Given the description of an element on the screen output the (x, y) to click on. 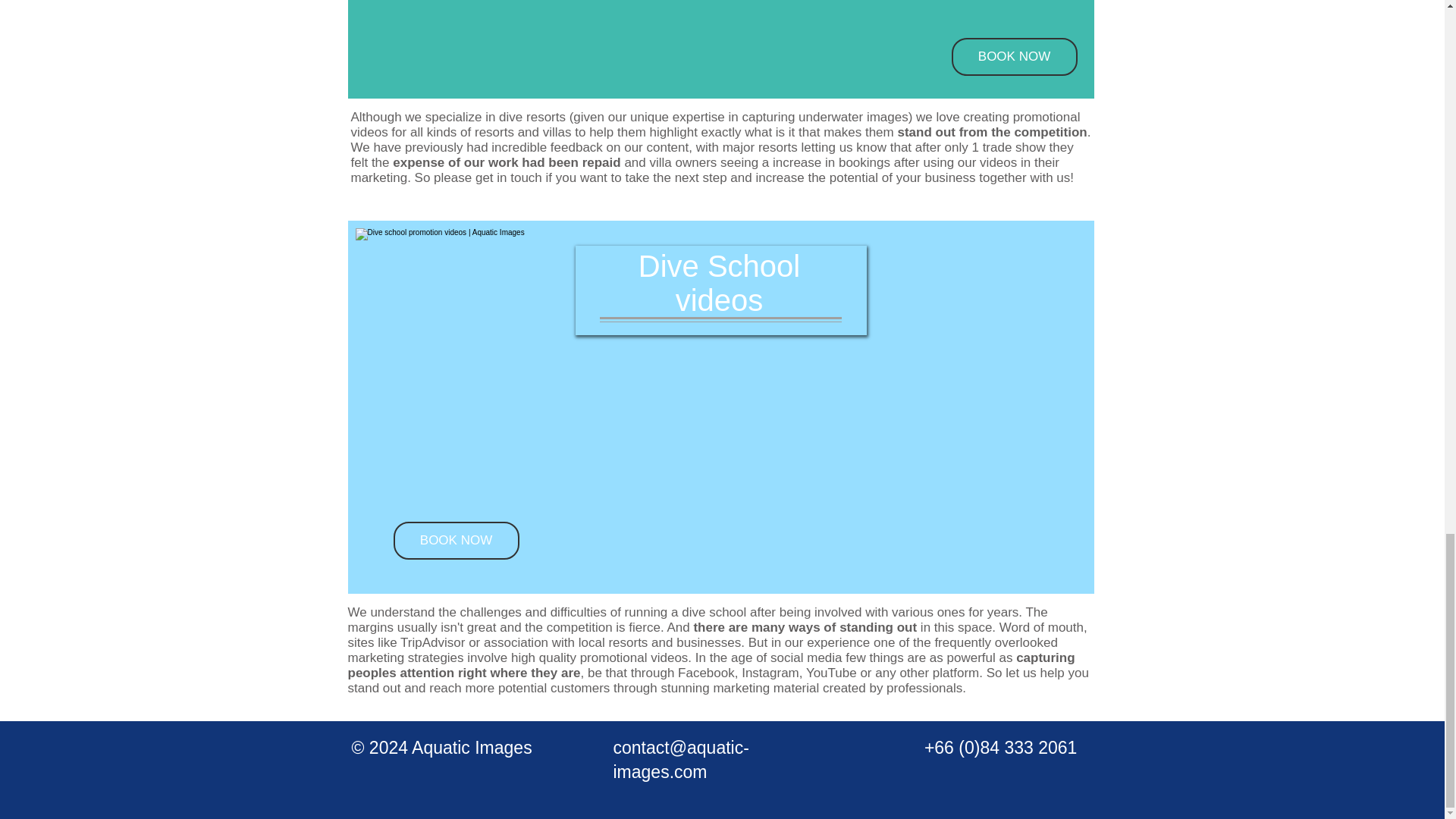
BOOK NOW (1013, 56)
BOOK NOW (455, 540)
